Given the description of an element on the screen output the (x, y) to click on. 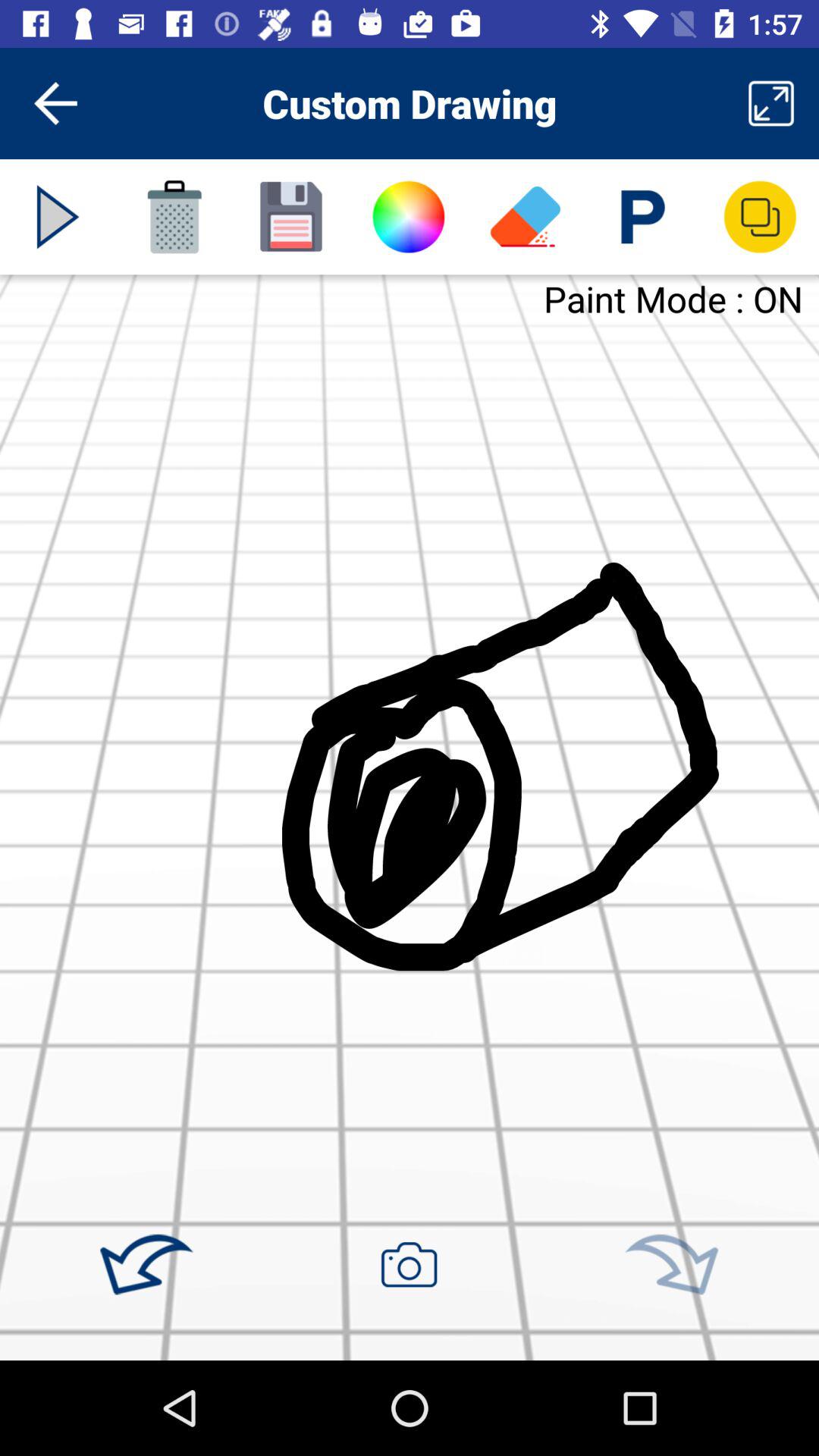
turn off item next to custom drawing item (771, 103)
